Given the description of an element on the screen output the (x, y) to click on. 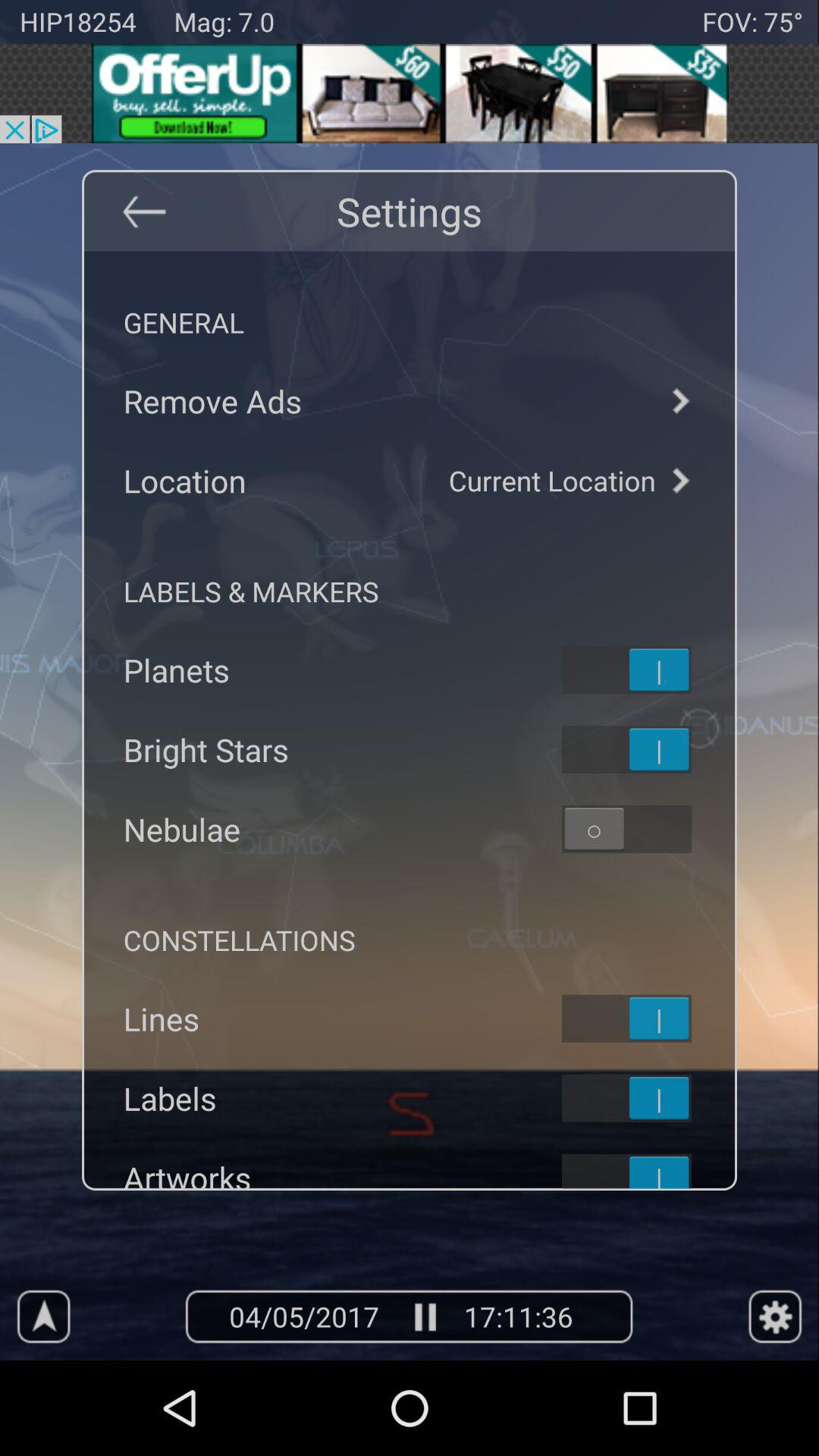
move (646, 1018)
